Given the description of an element on the screen output the (x, y) to click on. 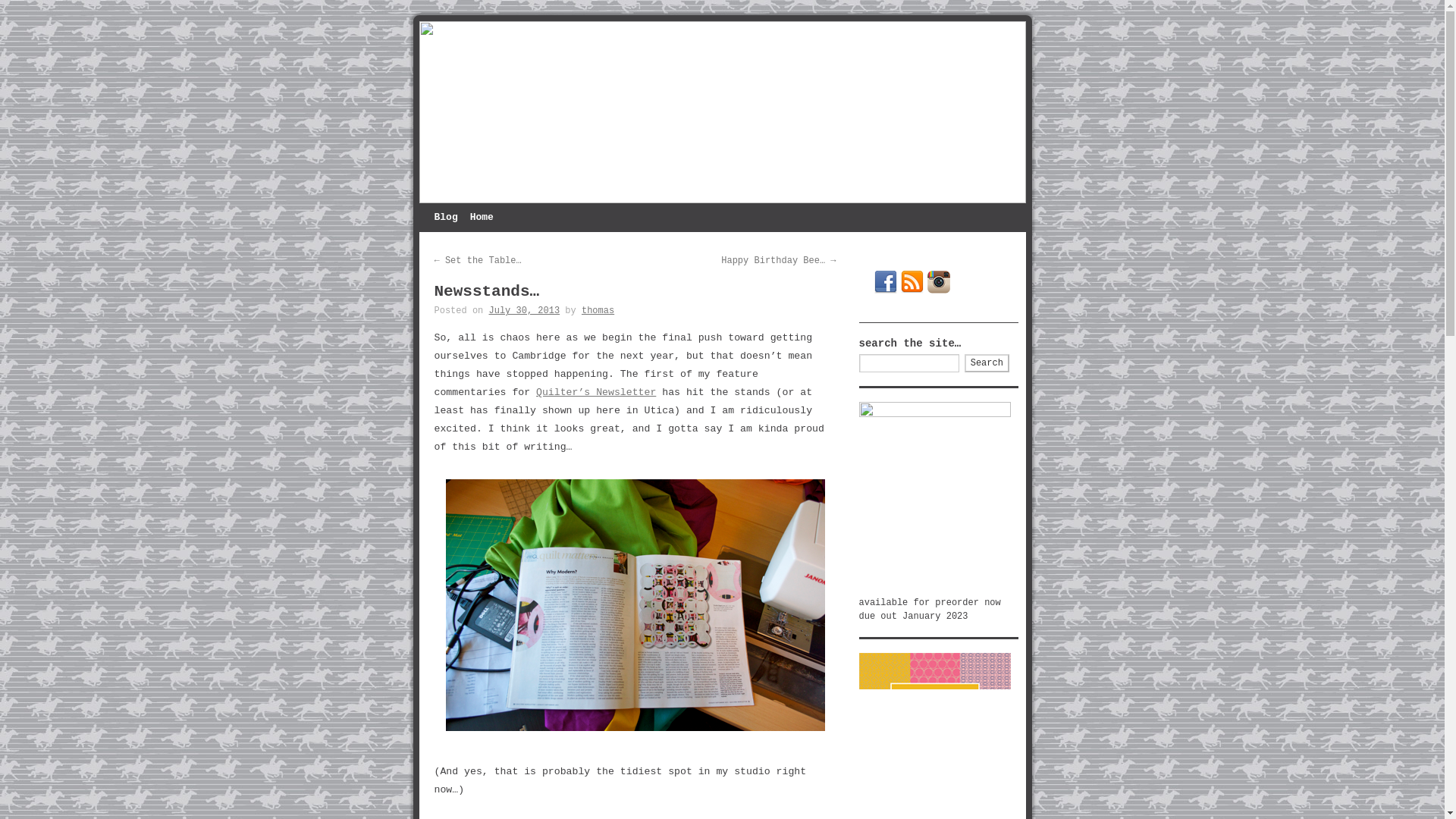
July 30, 2013 (524, 310)
Search (986, 362)
Search (986, 362)
thomas (597, 310)
Blog (445, 217)
View all posts by thomas (597, 310)
1:12 pm (524, 310)
Thomas Knauer Sews (722, 112)
Home (481, 217)
